Given the description of an element on the screen output the (x, y) to click on. 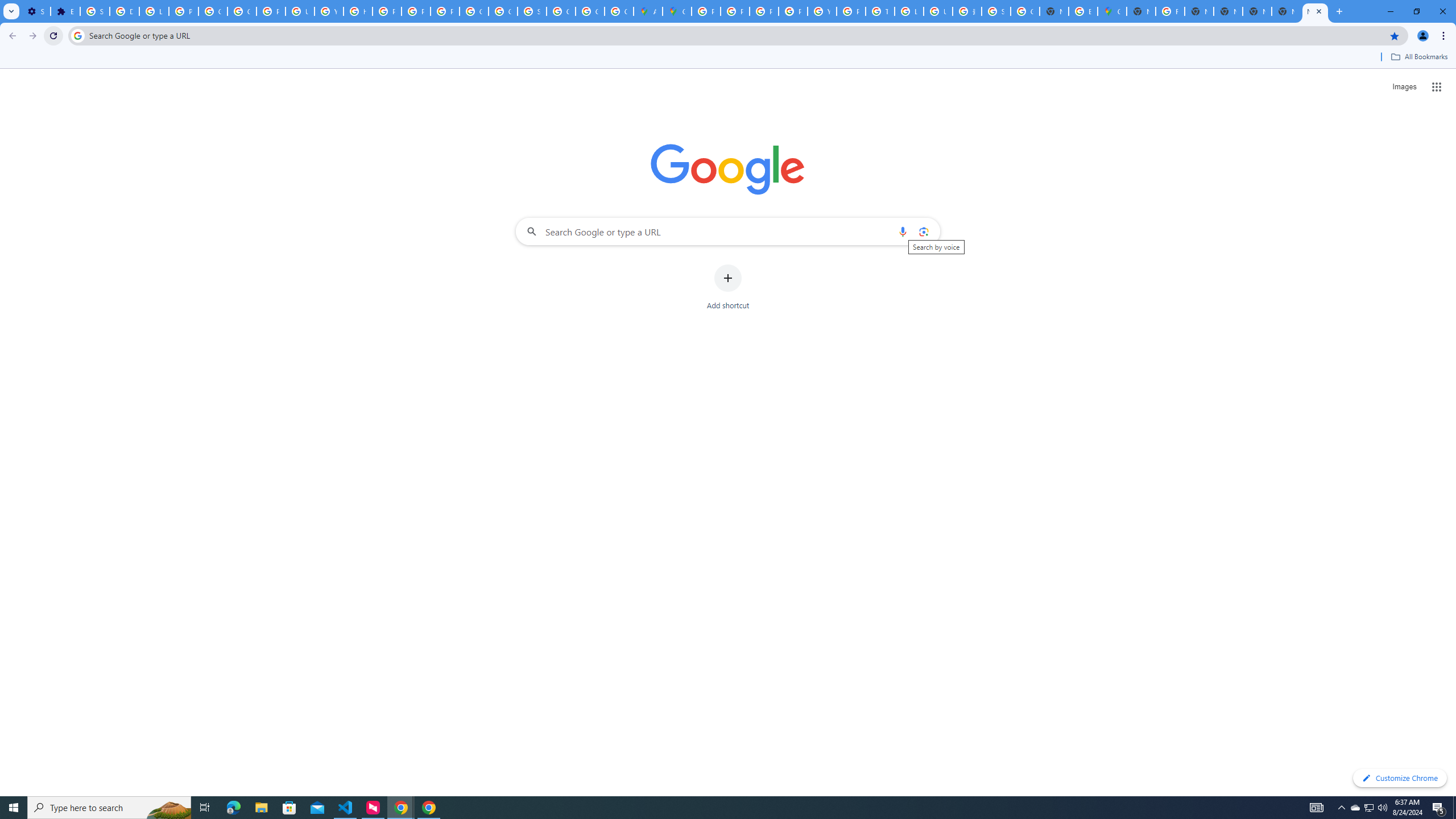
Google Account Help (212, 11)
Google Maps (677, 11)
Privacy Help Center - Policies Help (763, 11)
New Tab (1286, 11)
Sign in - Google Accounts (95, 11)
Delete photos & videos - Computer - Google Photos Help (124, 11)
